Given the description of an element on the screen output the (x, y) to click on. 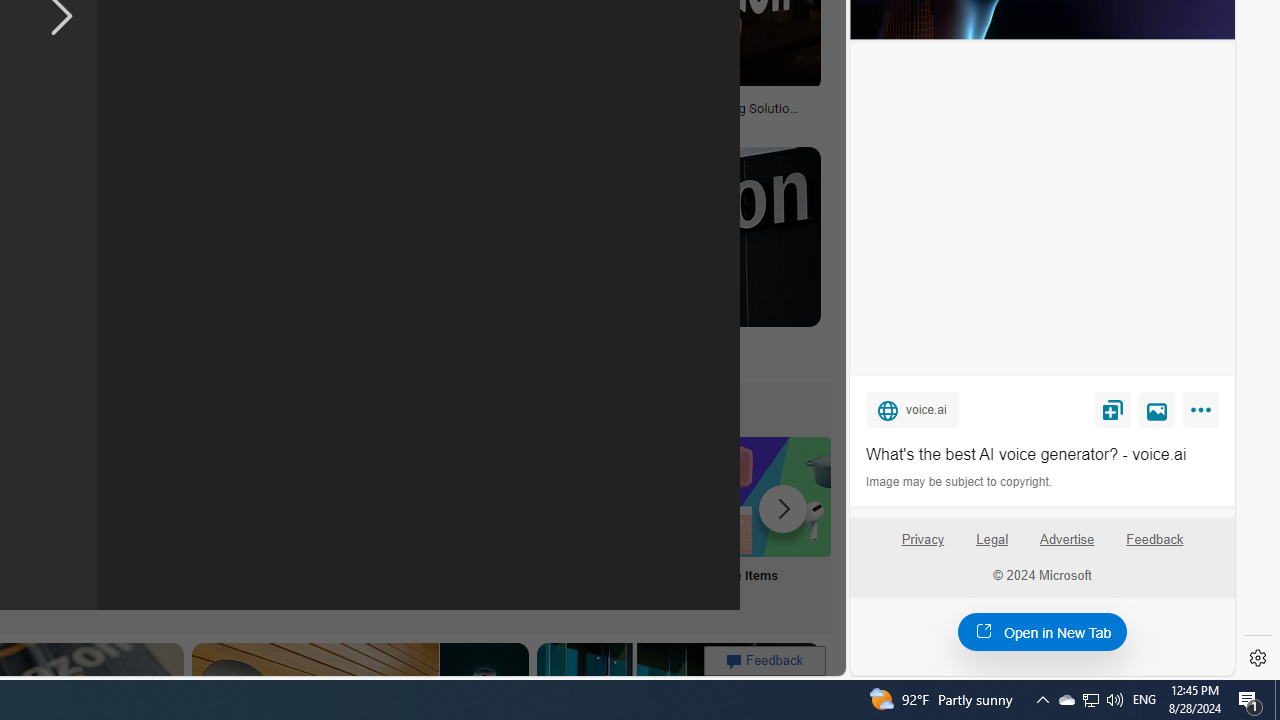
Image may be subject to copyright. (959, 481)
Amazon Visa Card Login (643, 496)
cordcuttersnews.com (234, 358)
Amazon Prime Shopping Online Prime Shopping Online (380, 521)
Amazon Online Shopping Homepage (248, 496)
Visa Card Login (643, 521)
mobilemarketingmagazine.com (574, 121)
Image result for amazon (662, 236)
Online Shopping Homepage (248, 521)
Save (1112, 409)
Privacy (922, 539)
Sale Items (775, 521)
